Given the description of an element on the screen output the (x, y) to click on. 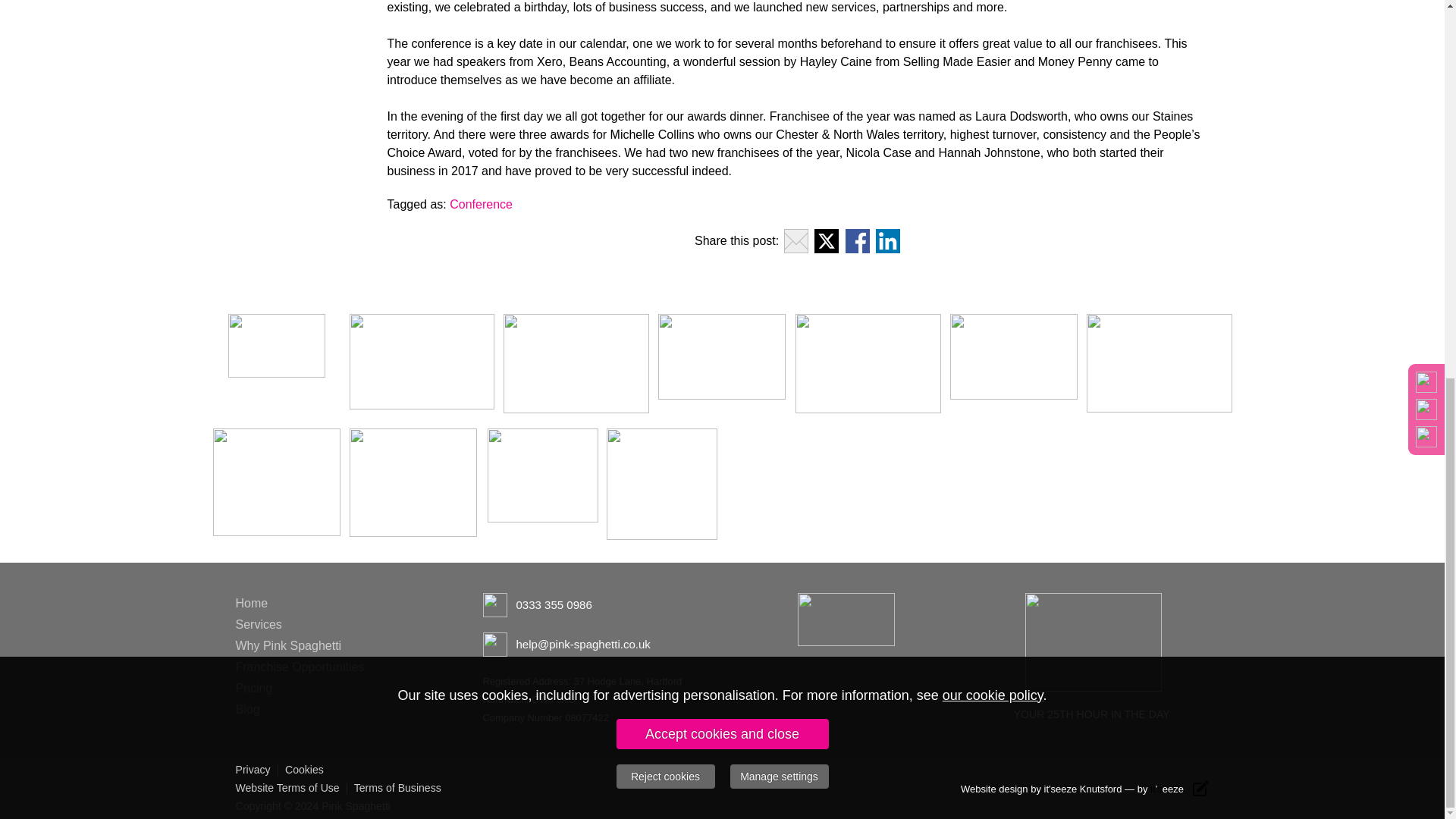
Home (250, 603)
Why Pink Spaghetti (287, 645)
Services (257, 624)
Franchise Opportunities (299, 666)
Conference (480, 204)
Pricing (253, 687)
Blog (246, 708)
